Given the description of an element on the screen output the (x, y) to click on. 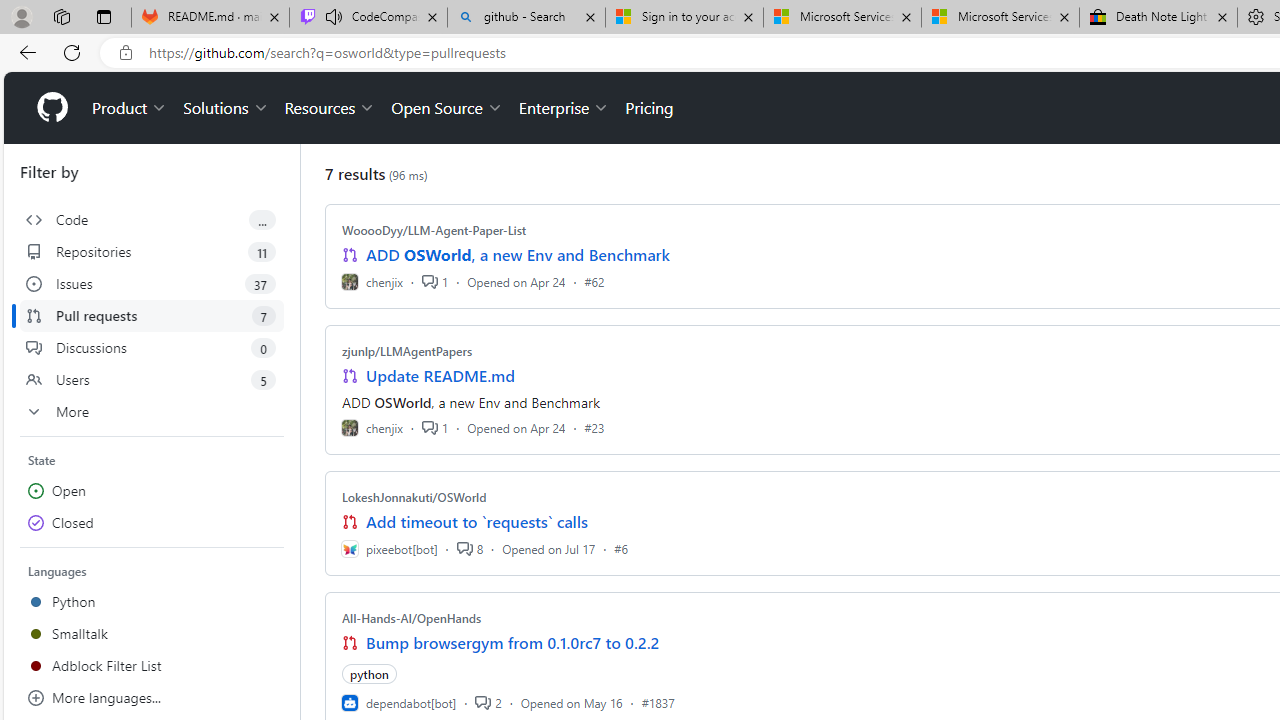
#62 (594, 281)
More languages... (152, 697)
Solutions (225, 107)
dependabot[bot] (398, 702)
#1837 (657, 702)
Microsoft Services Agreement (1000, 17)
Resources (330, 107)
Enterprise (563, 107)
Resources (330, 107)
Product (130, 107)
